Given the description of an element on the screen output the (x, y) to click on. 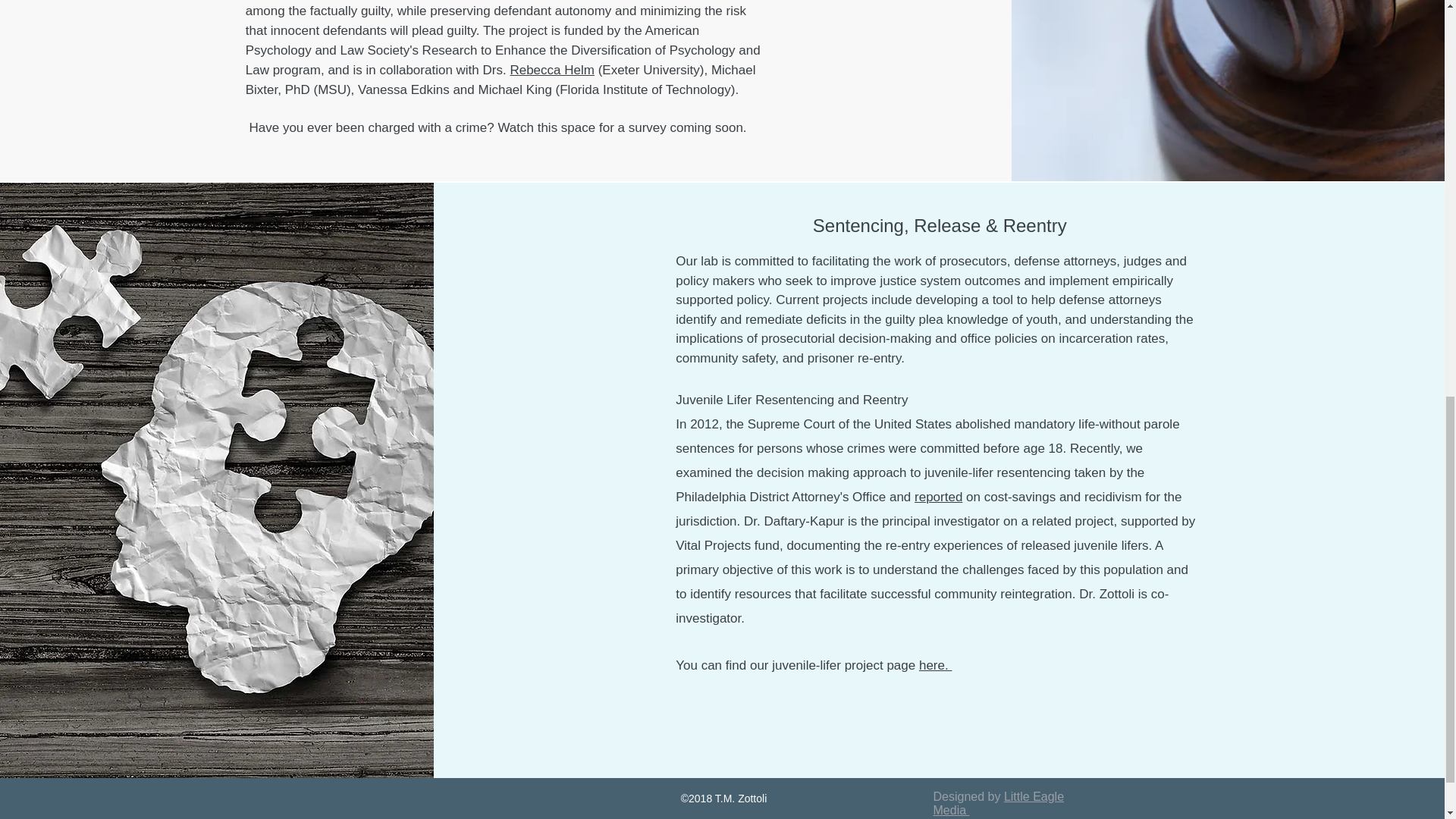
here.  (935, 665)
reported (938, 496)
Little Eagle Media  (998, 803)
Rebecca Helm (551, 69)
